Given the description of an element on the screen output the (x, y) to click on. 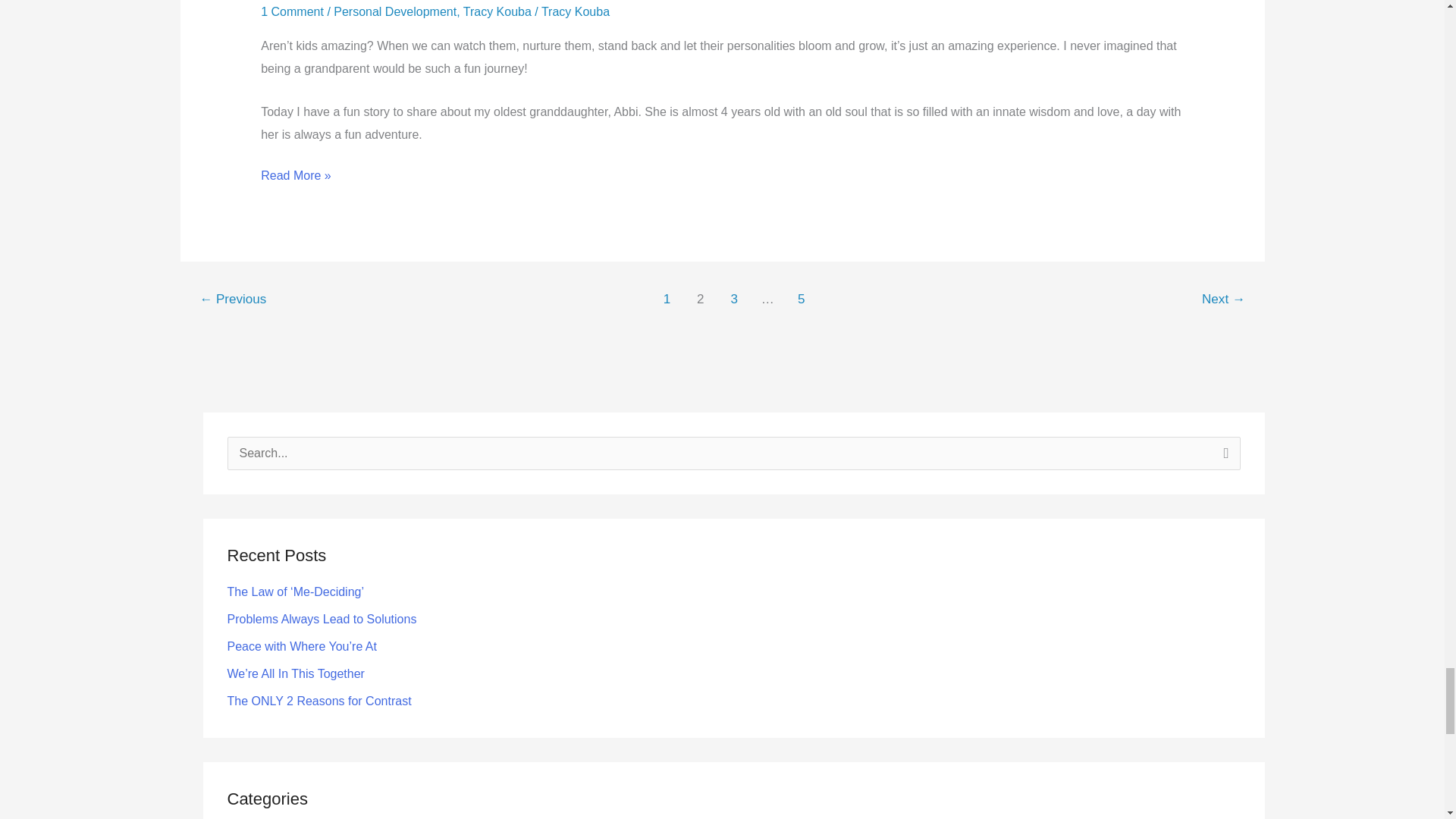
View all posts by Tracy Kouba (575, 11)
